Given the description of an element on the screen output the (x, y) to click on. 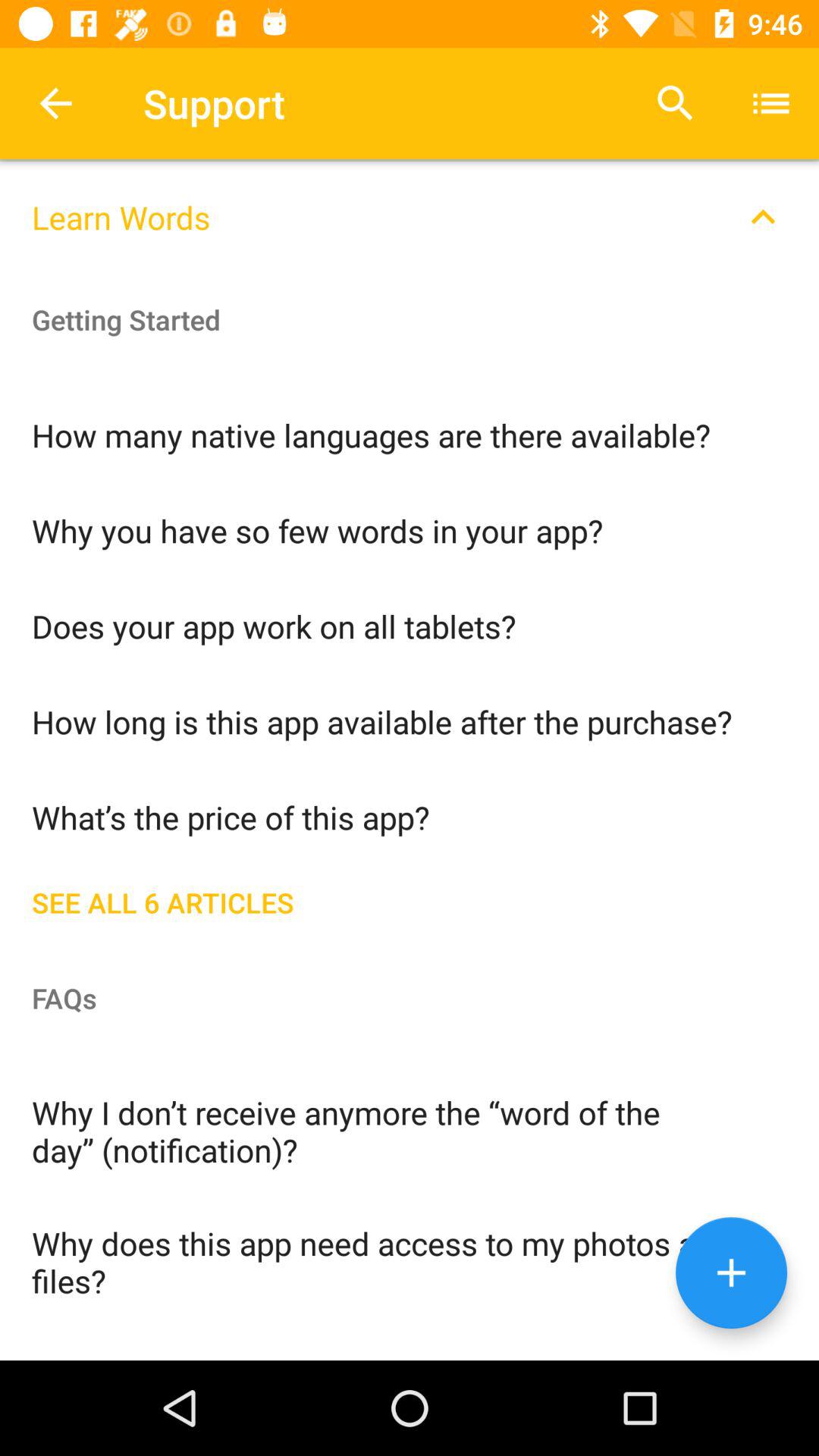
adding button (731, 1272)
